Given the description of an element on the screen output the (x, y) to click on. 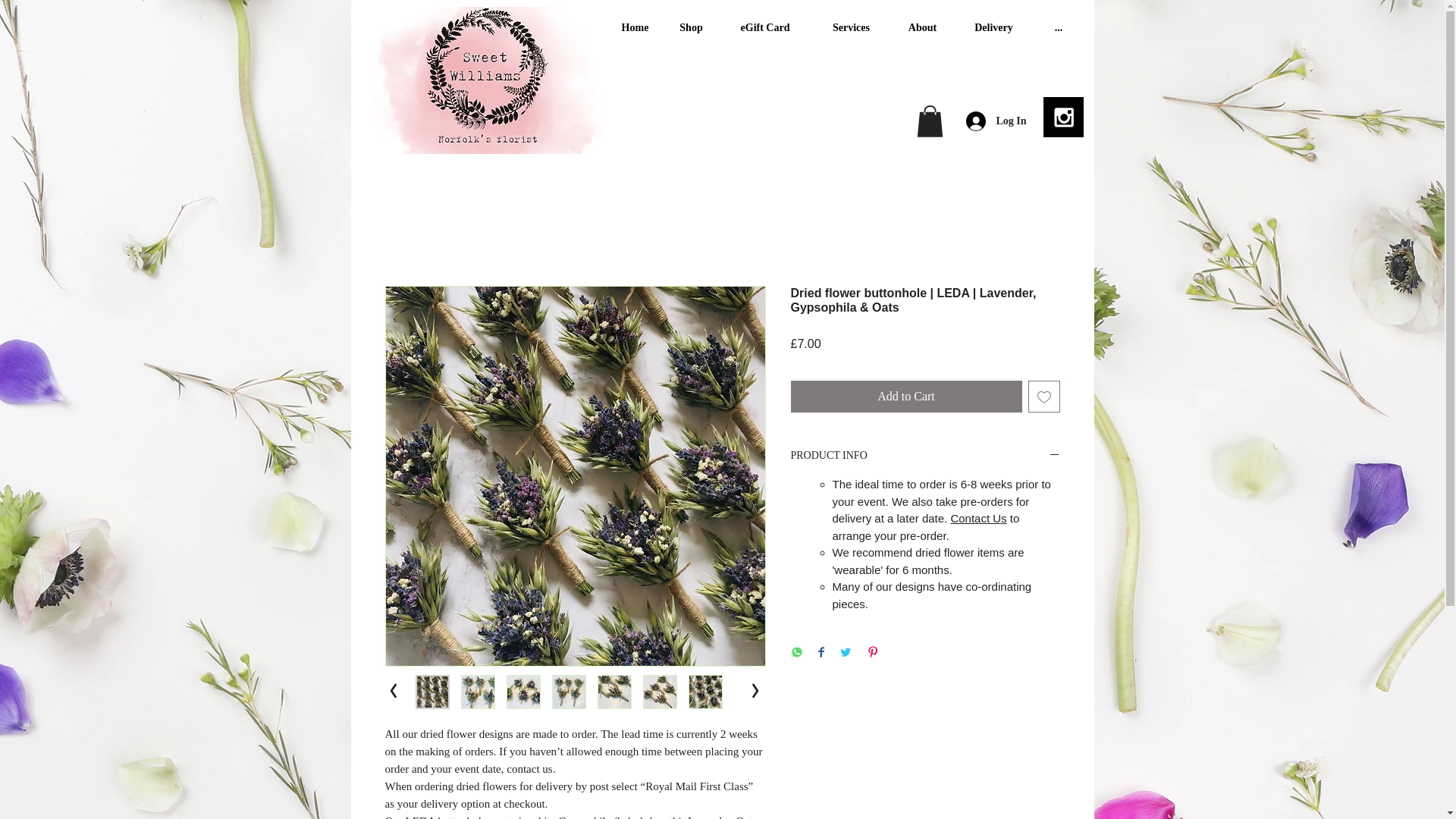
Delivery (993, 28)
Shop (690, 28)
Add to Cart (906, 396)
PRODUCT INFO (924, 455)
Contact Us (978, 517)
About (922, 28)
eGift Card (764, 28)
Services (850, 28)
Log In (992, 121)
Home (634, 28)
